Given the description of an element on the screen output the (x, y) to click on. 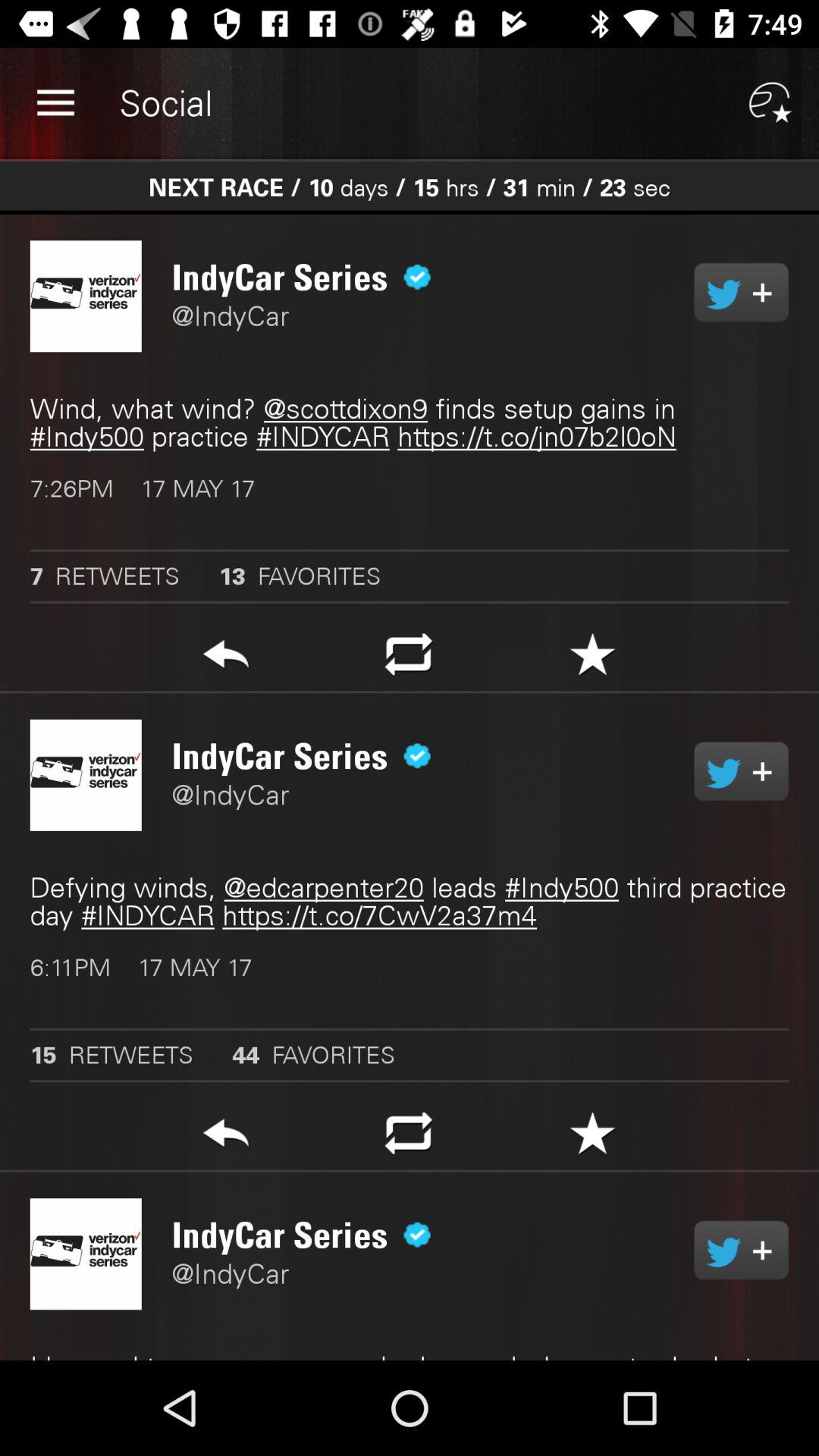
shift option (408, 1137)
